Given the description of an element on the screen output the (x, y) to click on. 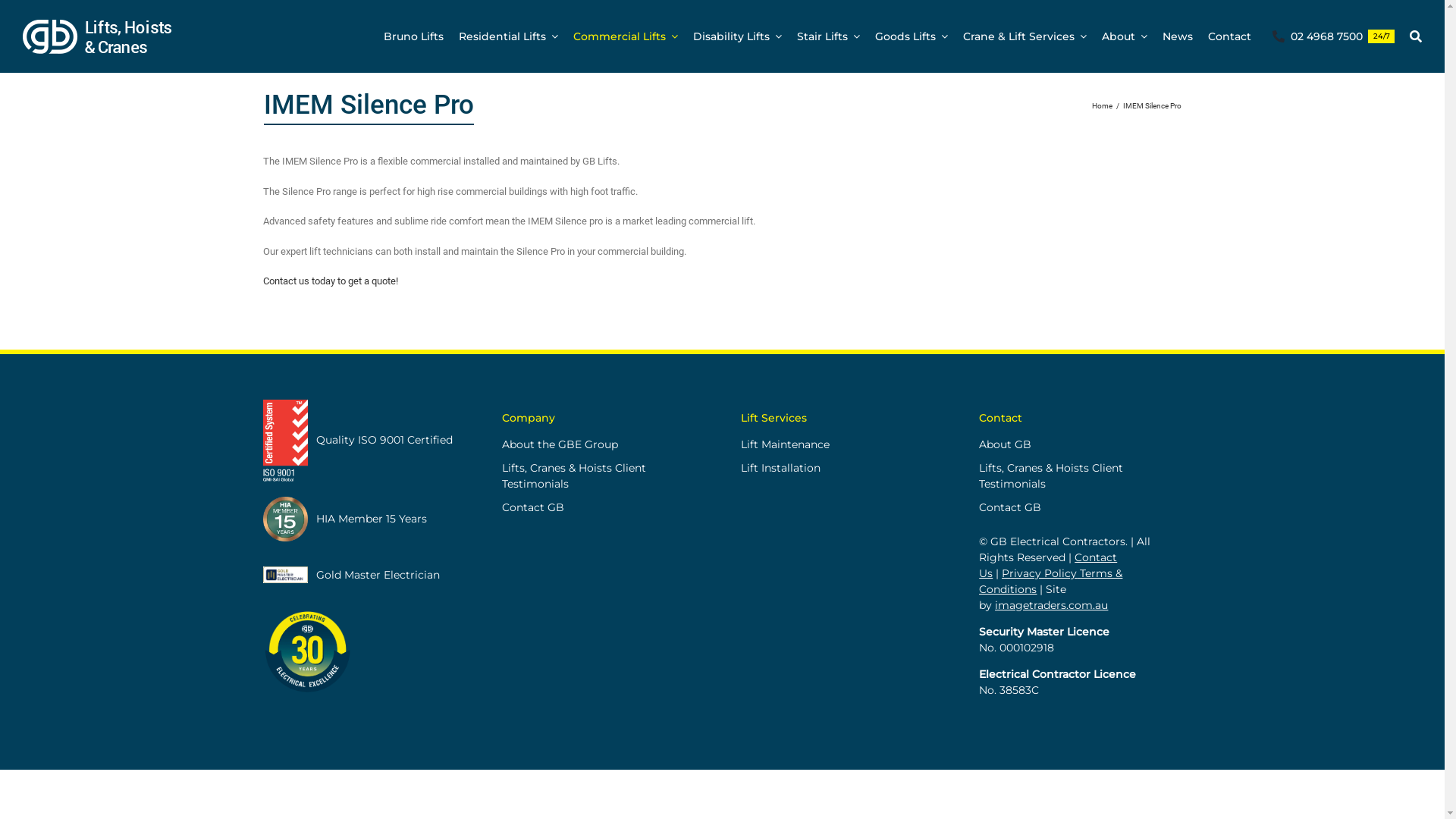
Bruno Lifts Element type: text (413, 36)
Home Element type: text (1102, 105)
Residential Lifts Element type: text (508, 36)
Contact Element type: text (1229, 36)
Goods Lifts Element type: text (911, 36)
Lift Installation Element type: text (841, 467)
Contact us today to get a quote! Element type: text (330, 280)
Commercial Lifts Element type: text (625, 36)
Search Element type: hover (1415, 36)
Stair Lifts Element type: text (828, 36)
Privacy Policy Element type: text (1038, 572)
GME Element type: hover (285, 574)
Terms & Conditions Element type: text (1050, 580)
Lifts, Cranes & Hoists Client Testimonials Element type: text (1079, 475)
Crane & Lift Services Element type: text (1024, 36)
Contact Us Element type: text (1048, 565)
HIA_member_15years-opt Element type: hover (285, 518)
About GB Element type: text (1079, 444)
Disability Lifts Element type: text (737, 36)
Contact GB Element type: text (1079, 506)
imagetraders.com.au Element type: text (1050, 604)
News Element type: text (1177, 36)
Lift Maintenance Element type: text (841, 444)
GBE-Lifts-Hoists-Cranes Element type: hover (121, 36)
Lifts, Cranes & Hoists Client Testimonials Element type: text (602, 475)
GB_30thLogo_PNG_transp Element type: hover (308, 650)
Contact GB Element type: text (602, 506)
02 4968 7500
24/7 Element type: text (1330, 36)
About Element type: text (1124, 36)
About the GBE Group Element type: text (602, 444)
